Given the description of an element on the screen output the (x, y) to click on. 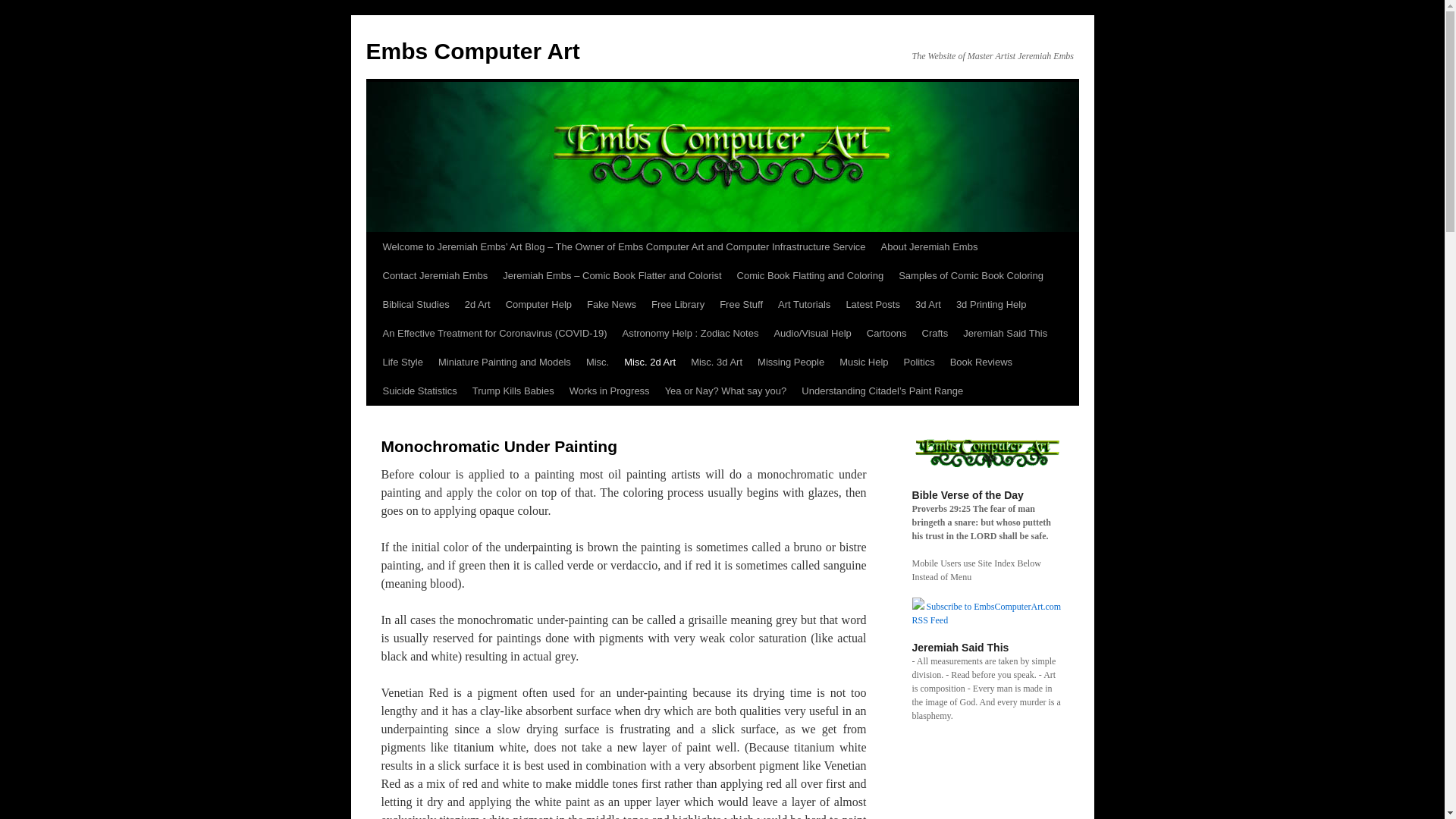
Biblical Studies (415, 304)
Samples of Comic Book Coloring (971, 275)
About Jeremiah Embs (929, 246)
Comic Book Flatting and Coloring (810, 275)
Contact Jeremiah Embs (434, 275)
Embs Computer Art (472, 50)
